Given the description of an element on the screen output the (x, y) to click on. 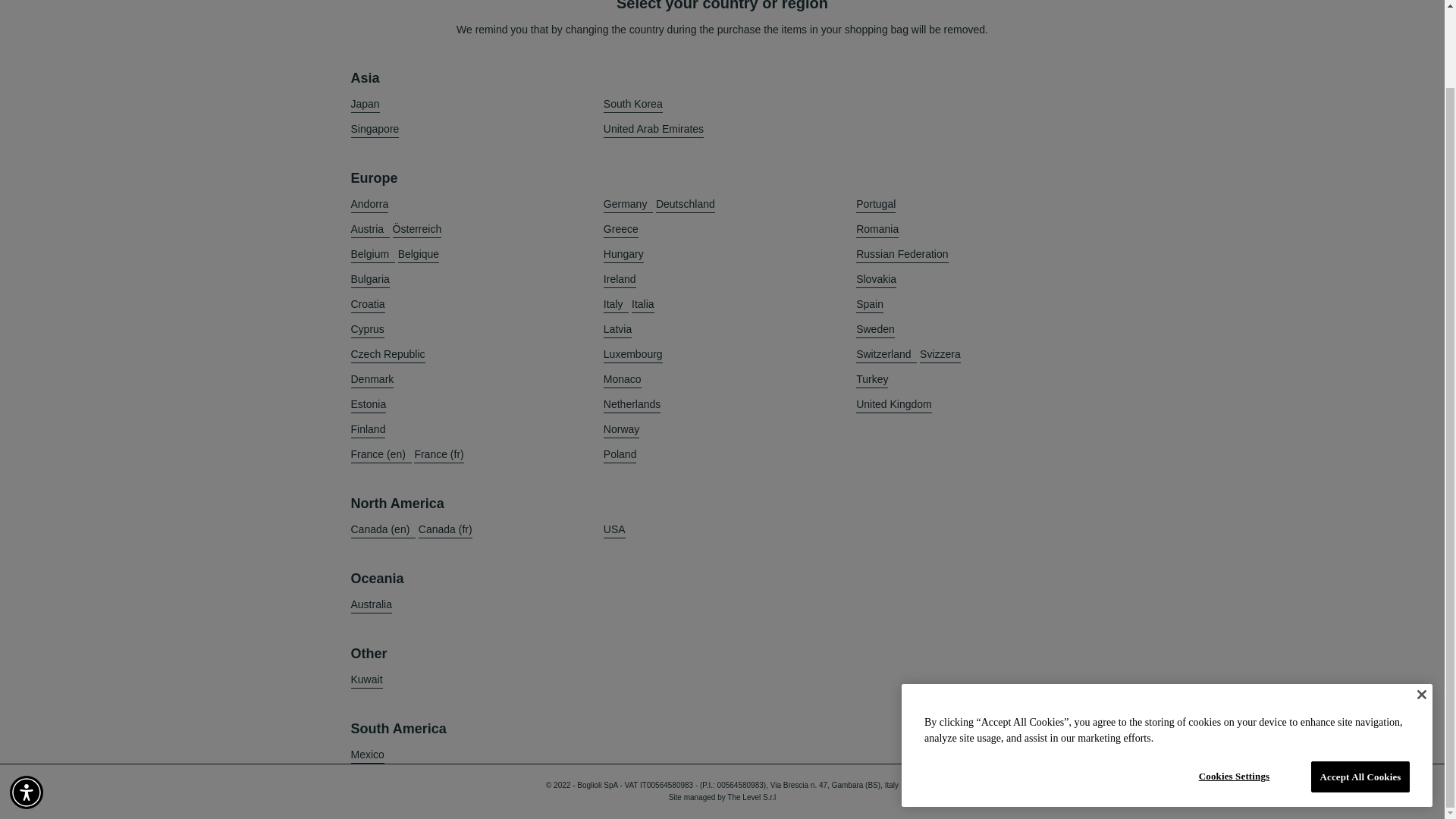
Germany (628, 203)
Japan (364, 104)
Accessibility Menu (26, 704)
Russian Federation (901, 253)
Deutschland (685, 203)
United Arab Emirates (653, 129)
Hungary (623, 253)
Norway (621, 429)
Slovakia (876, 279)
Poland (620, 454)
